Given the description of an element on the screen output the (x, y) to click on. 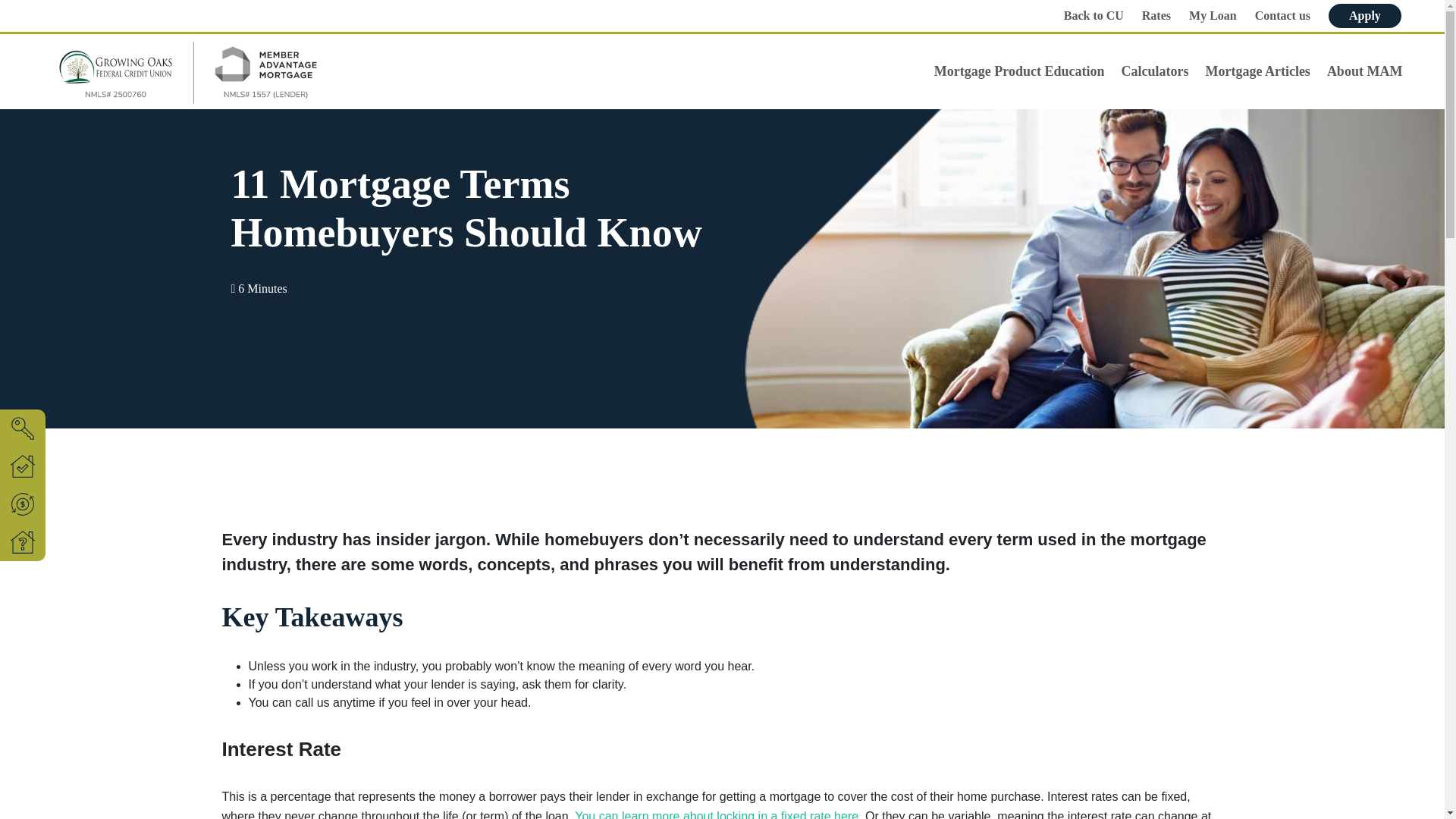
Apply (1363, 15)
You can learn more about locking in a fixed rate here. (718, 814)
Mortgage Articles (1254, 71)
Rates (1155, 15)
About MAM (1362, 71)
Back to CU (1093, 15)
Mortgage Product Education (1016, 71)
My Loan (1212, 15)
Calculators (1151, 71)
Contact us (1282, 15)
